Given the description of an element on the screen output the (x, y) to click on. 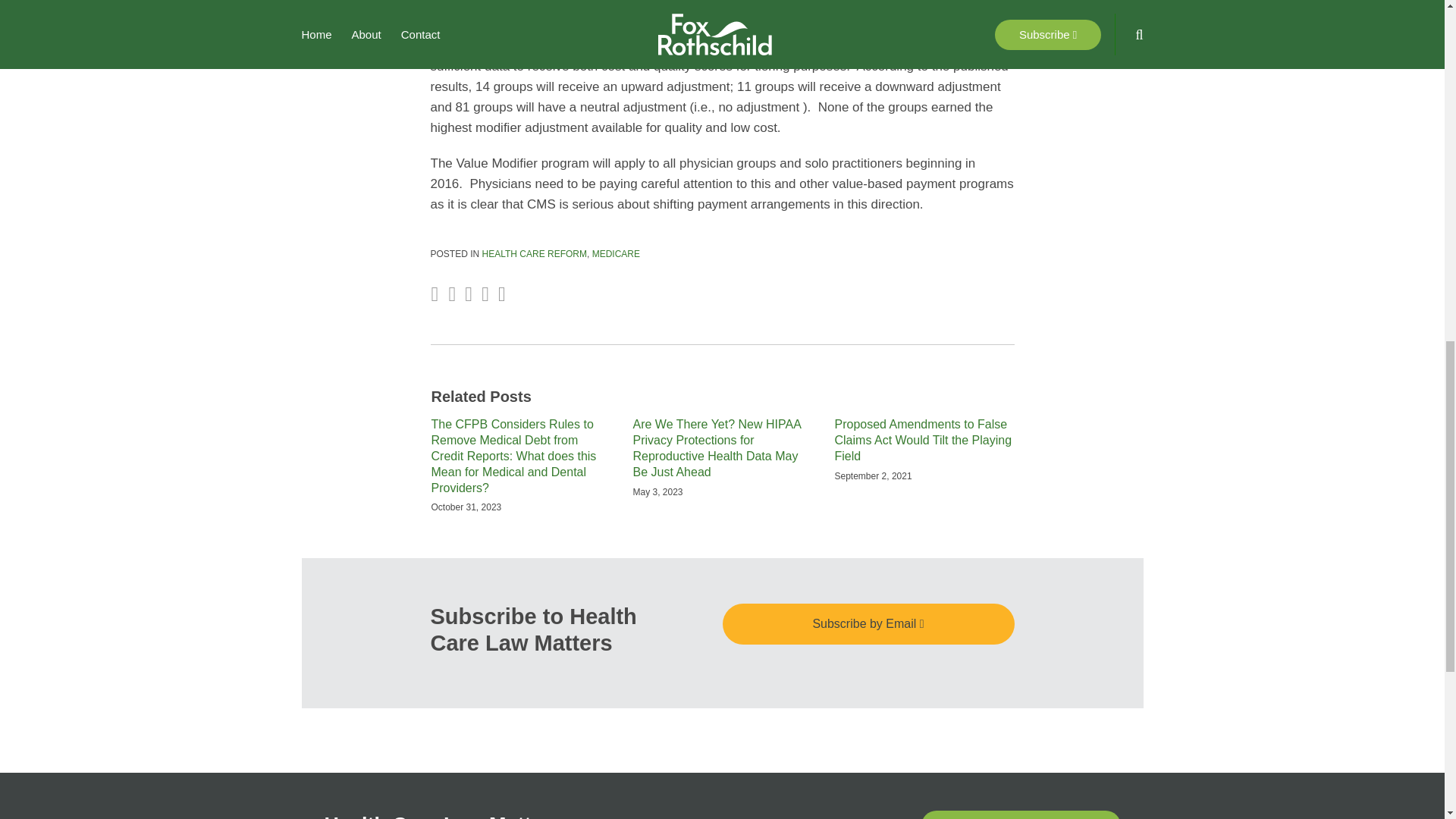
MEDICARE (616, 253)
Health Care Law Matters (443, 816)
The Fox Legal Network (1021, 814)
HEALTH CARE REFORM (533, 253)
Subscribe by Email (867, 623)
